Given the description of an element on the screen output the (x, y) to click on. 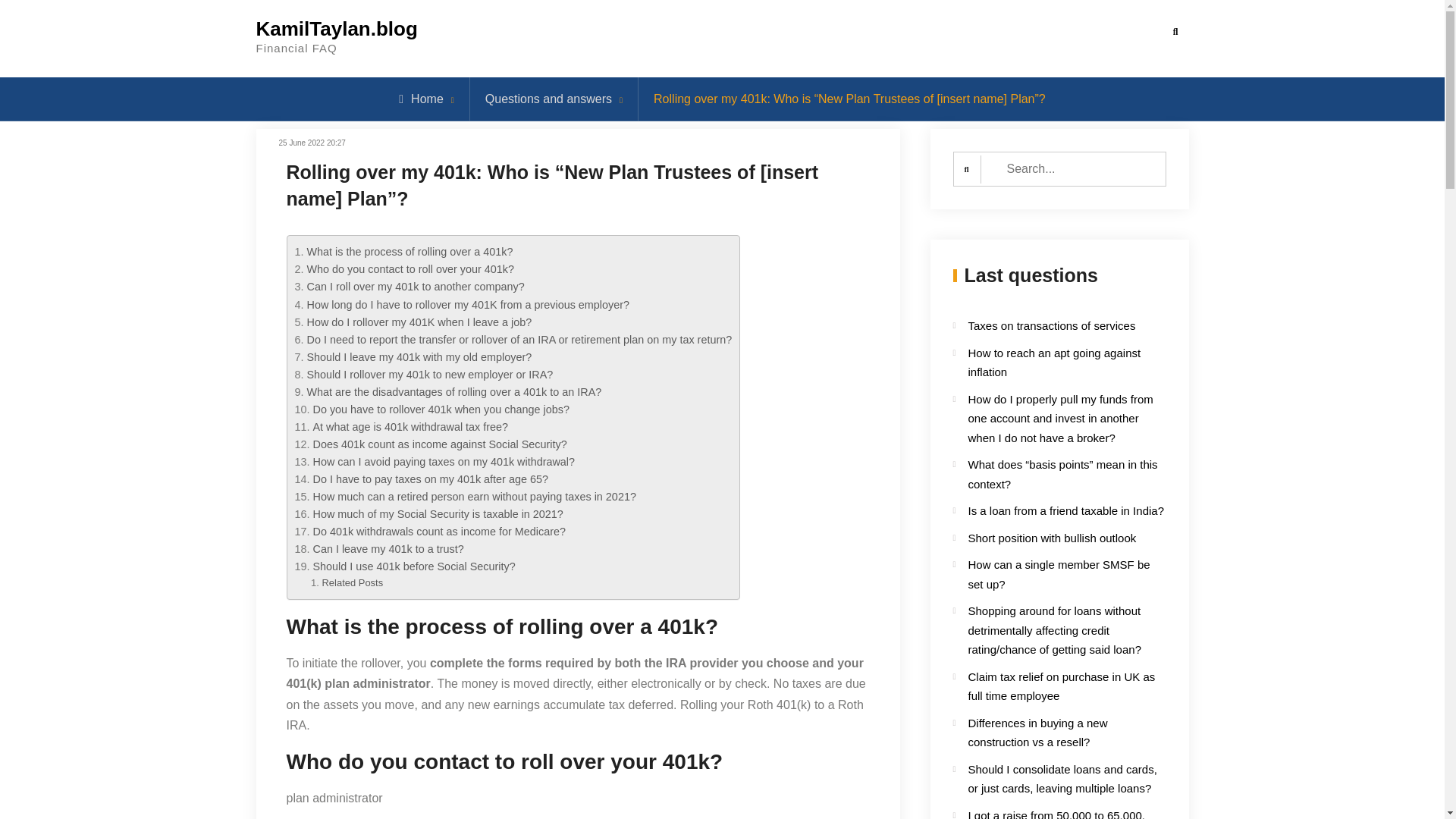
Who do you contact to roll over your 401k? (409, 268)
At what age is 401k withdrawal tax free? (410, 426)
Can I roll over my 401k to another company? (414, 286)
How do I rollover my 401K when I leave a job? (418, 322)
How much of my Social Security is taxable in 2021? (438, 513)
Can I roll over my 401k to another company? (414, 286)
Do you have to rollover 401k when you change jobs? (441, 409)
